Given the description of an element on the screen output the (x, y) to click on. 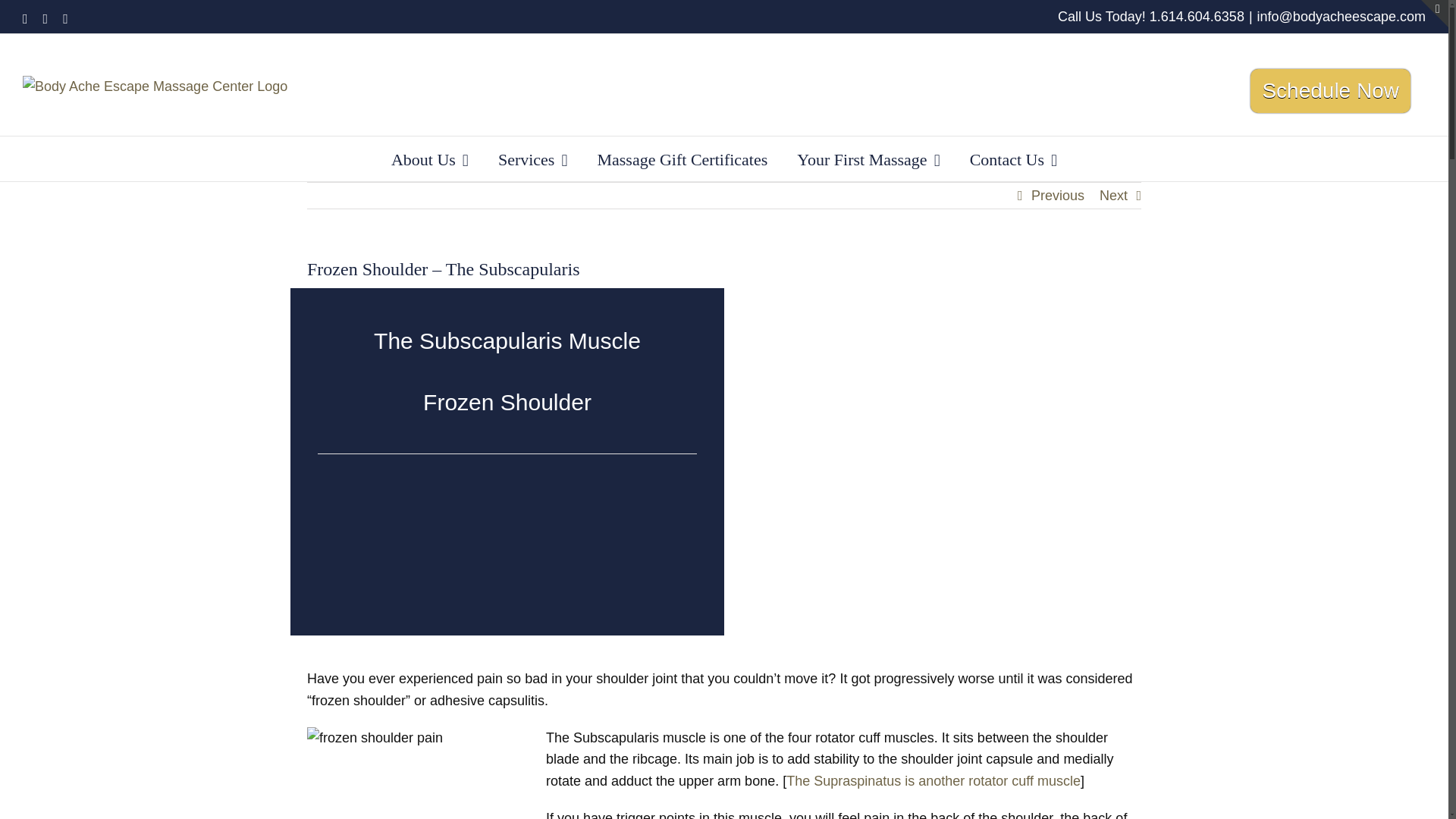
Gift Certificates (681, 158)
Services (532, 158)
Schedule Now (1330, 90)
About Us (429, 158)
Contact Us (1013, 158)
Your First Massage (867, 158)
Massage Gift Certificates (681, 158)
